Given the description of an element on the screen output the (x, y) to click on. 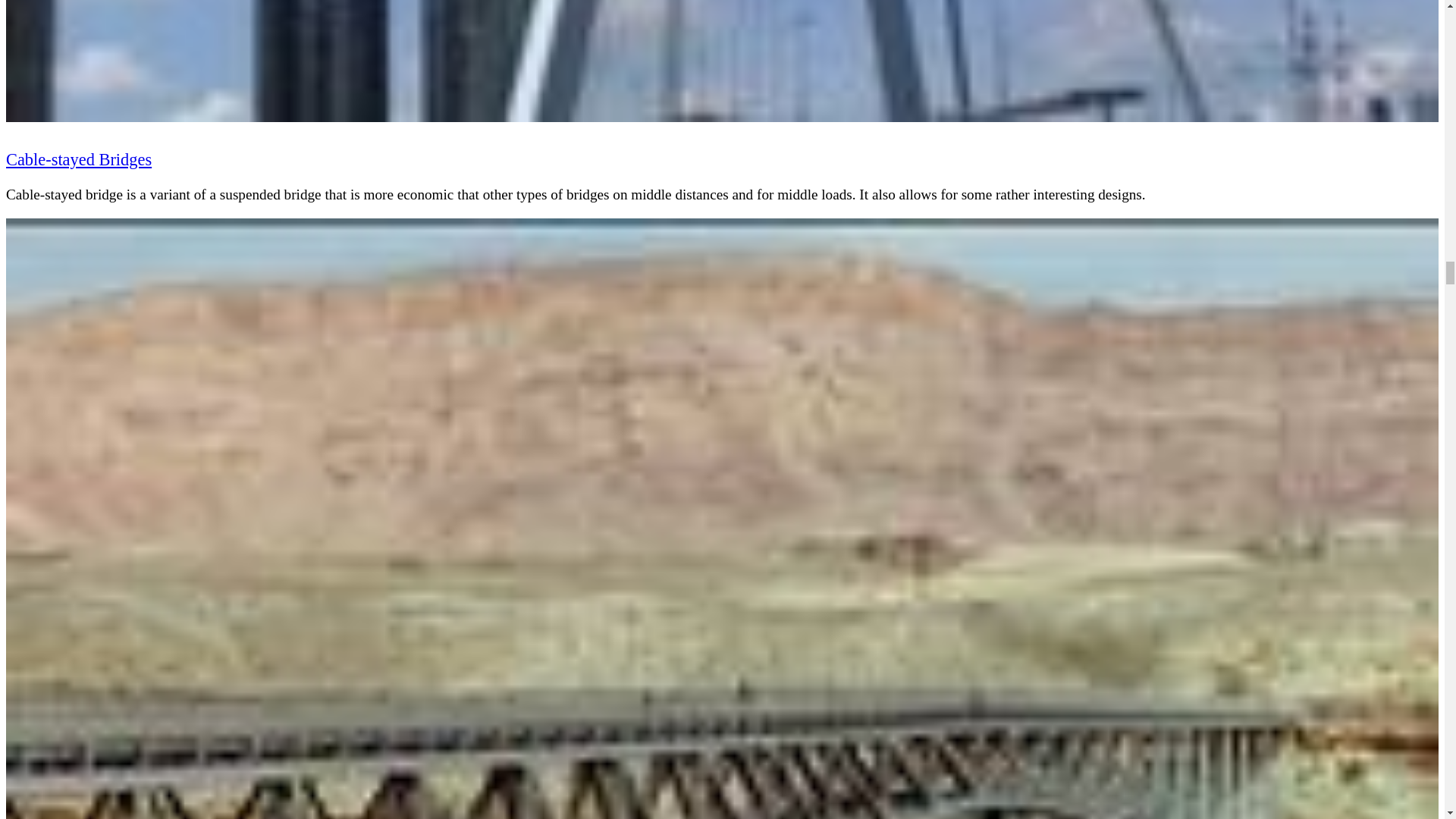
Cable-stayed Bridges (78, 158)
